Given the description of an element on the screen output the (x, y) to click on. 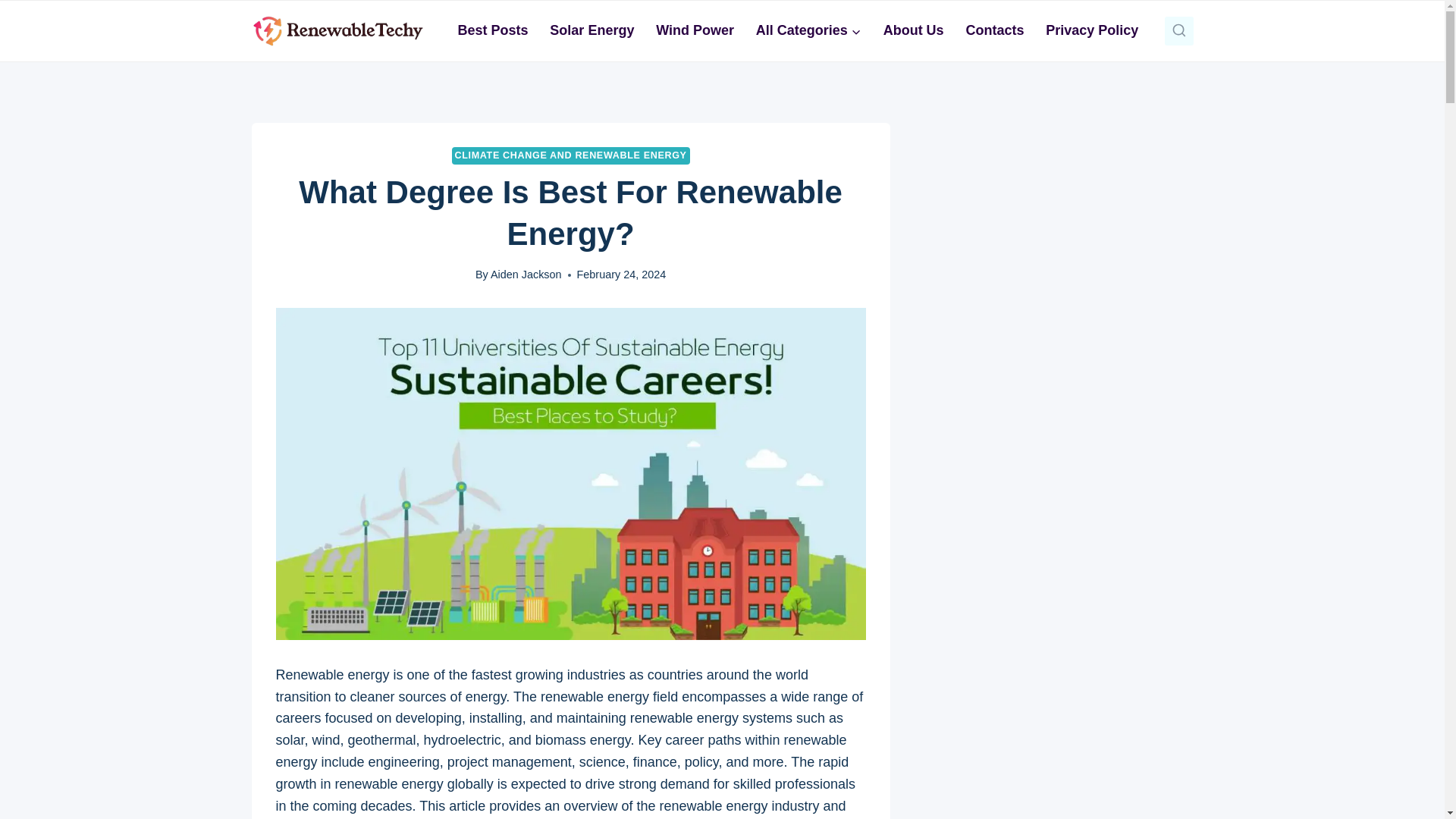
All Categories (808, 30)
Wind Power (695, 30)
Best Posts (492, 30)
Contacts (995, 30)
Privacy Policy (1092, 30)
Solar Energy (591, 30)
CLIMATE CHANGE AND RENEWABLE ENERGY (570, 155)
About Us (913, 30)
Aiden Jackson (526, 274)
